Given the description of an element on the screen output the (x, y) to click on. 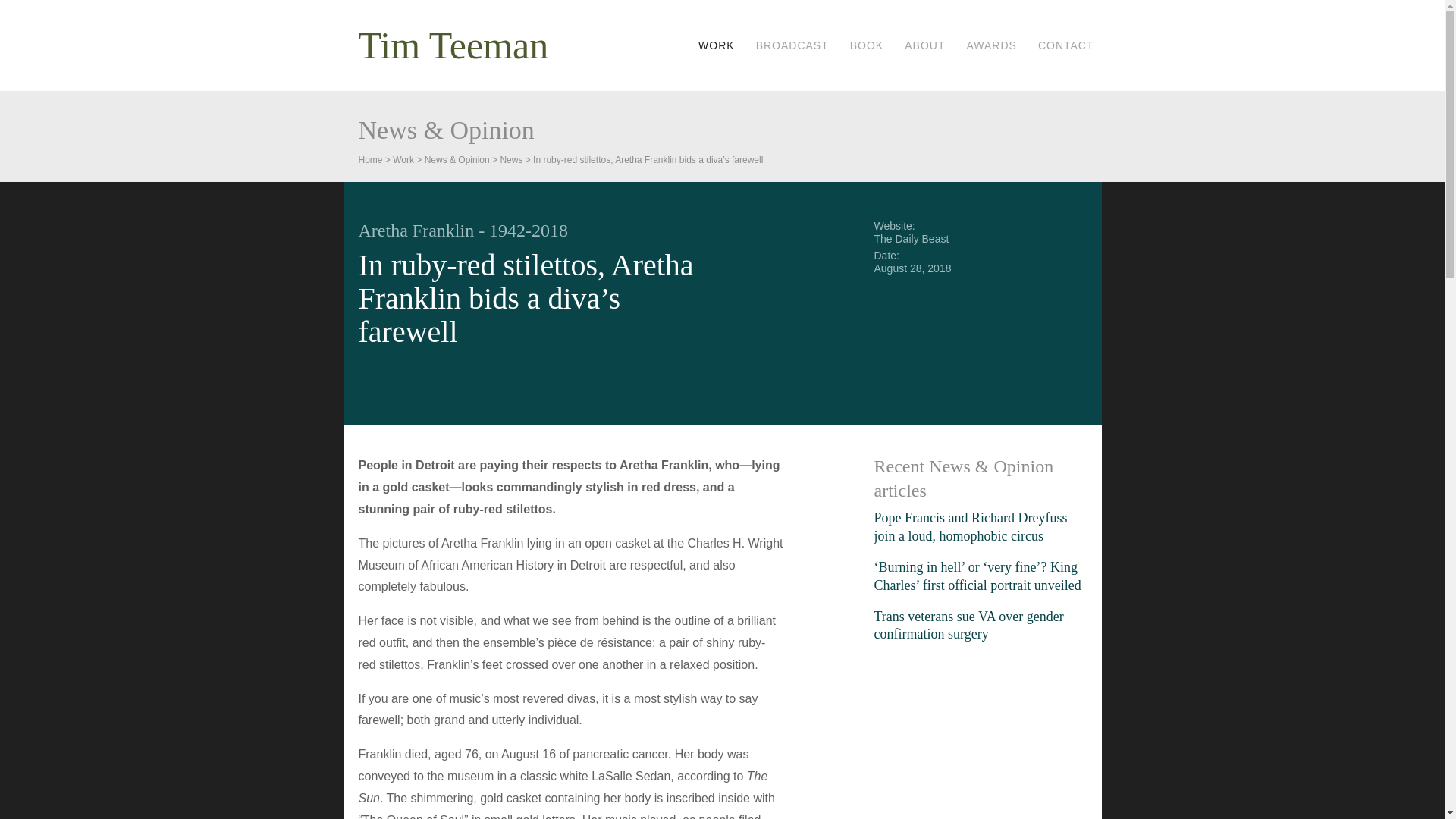
ABOUT (924, 45)
Go to Work. (403, 159)
Tim Teeman (453, 45)
Home (369, 159)
BROADCAST (791, 45)
Work (403, 159)
WORK (716, 45)
News (510, 159)
BOOK (866, 45)
Go to Tim Teeman. (369, 159)
